Given the description of an element on the screen output the (x, y) to click on. 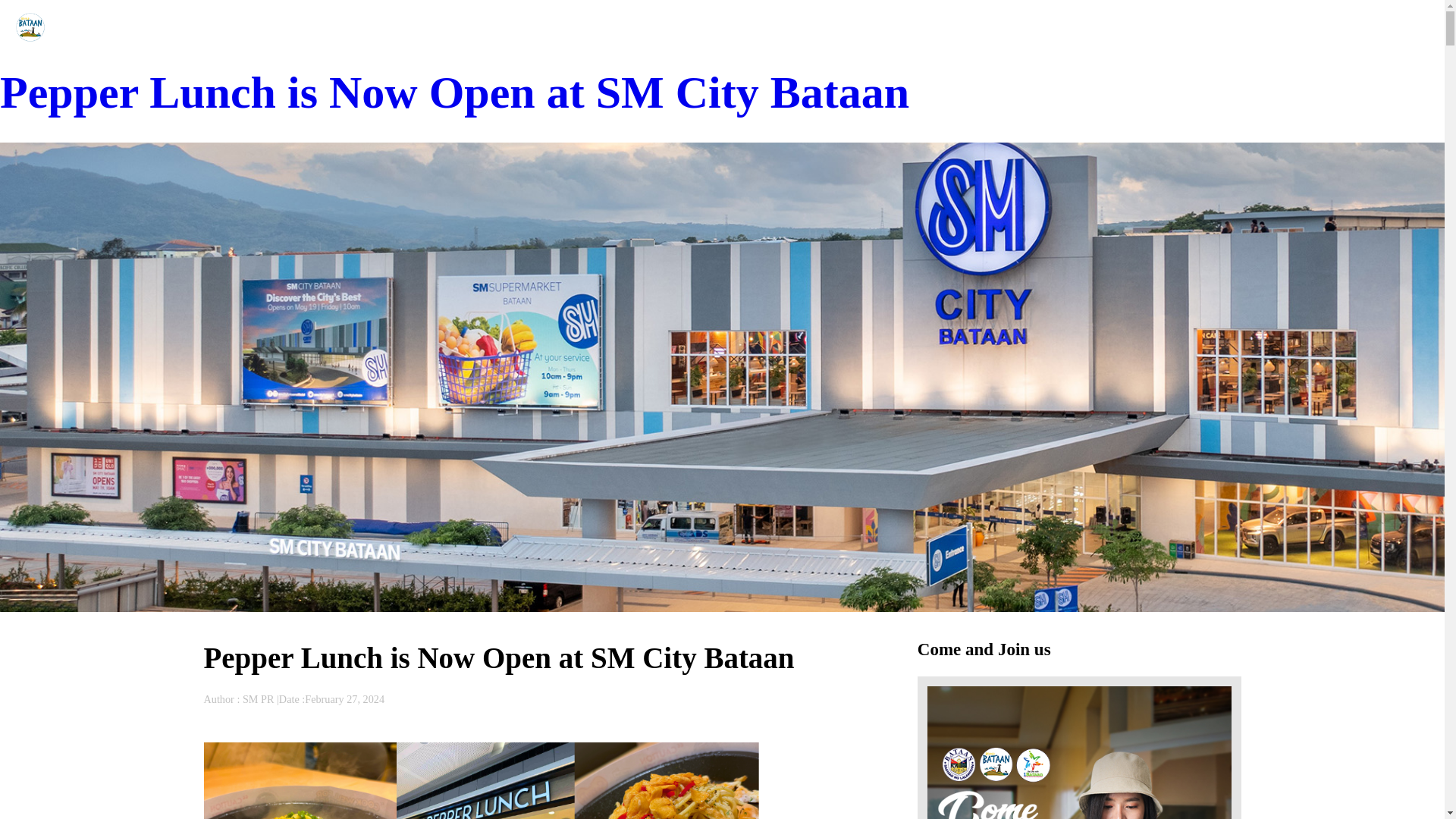
E-Library (1344, 27)
Contact us (1406, 27)
Home (1061, 27)
Behold Bataan (84, 26)
Pepper Lunch is Now Open at SM City Bataan (454, 92)
Destinations (1119, 27)
Establishments (1195, 27)
Organizations (1276, 27)
